Given the description of an element on the screen output the (x, y) to click on. 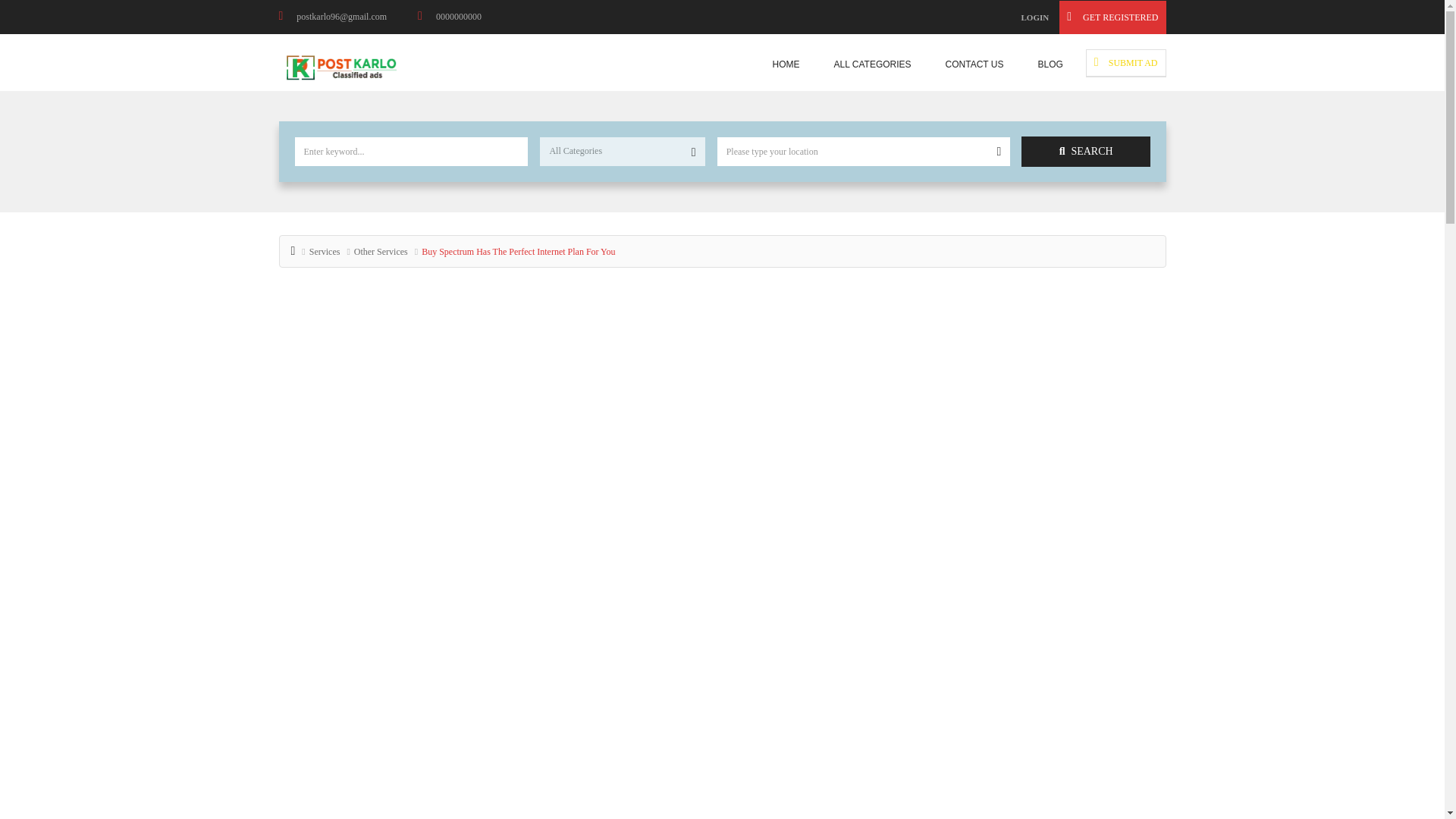
All Categories (872, 64)
Blog (1050, 64)
LOGIN (1035, 17)
Contact Us (974, 64)
Services (324, 251)
Other Services (380, 251)
SUBMIT AD (1126, 62)
CONTACT US (974, 64)
ALL CATEGORIES (872, 64)
Home (785, 64)
GET REGISTERED (1112, 17)
HOME (785, 64)
SEARCH (1086, 151)
BLOG (1050, 64)
